Given the description of an element on the screen output the (x, y) to click on. 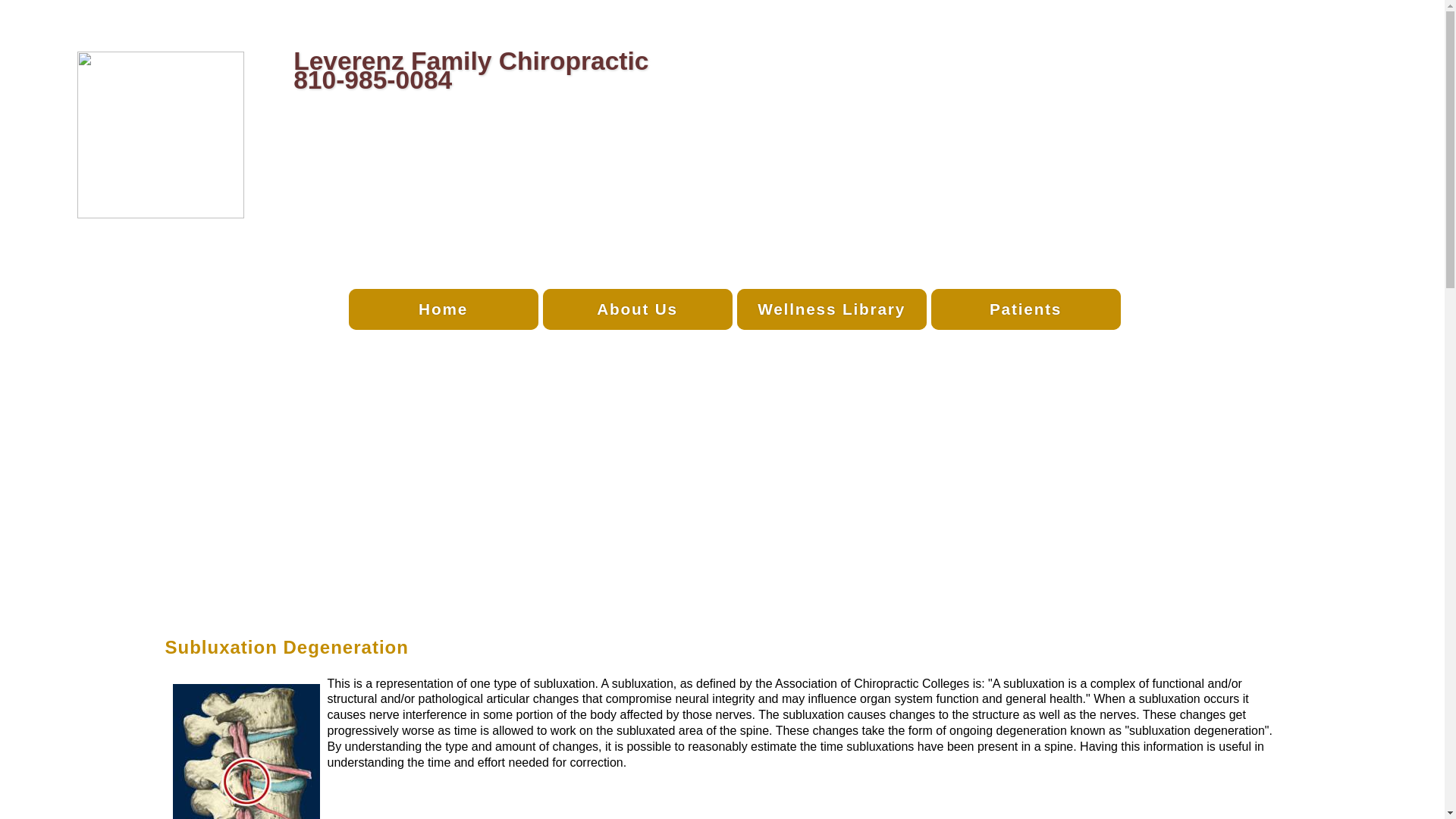
Home Element type: text (443, 308)
Wellness Library Element type: text (831, 308)
About Us Element type: text (637, 308)
Patients Element type: text (1025, 308)
